Given the description of an element on the screen output the (x, y) to click on. 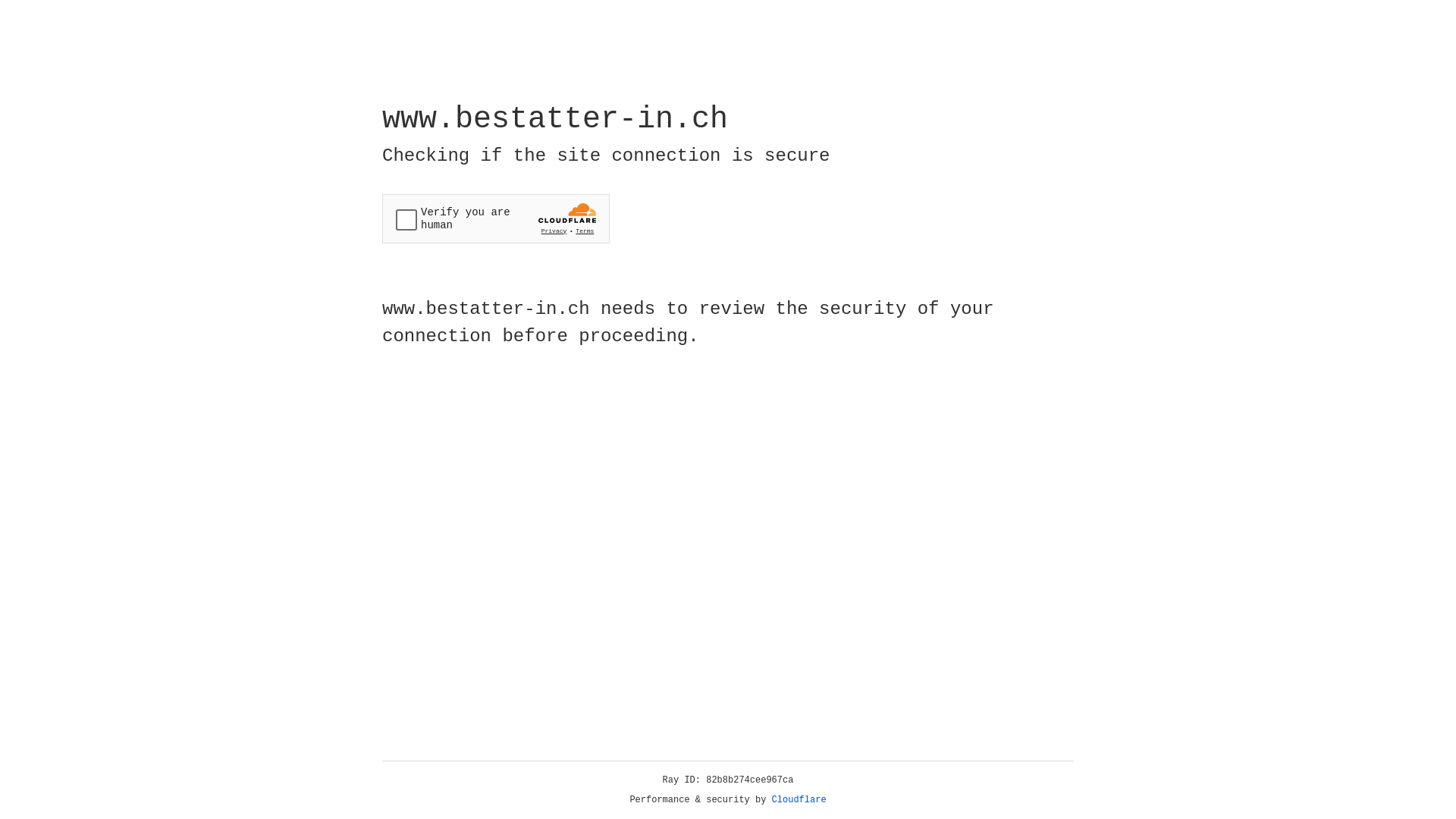
Widget containing a Cloudflare security challenge Element type: hover (495, 218)
Cloudflare Element type: text (798, 799)
